Given the description of an element on the screen output the (x, y) to click on. 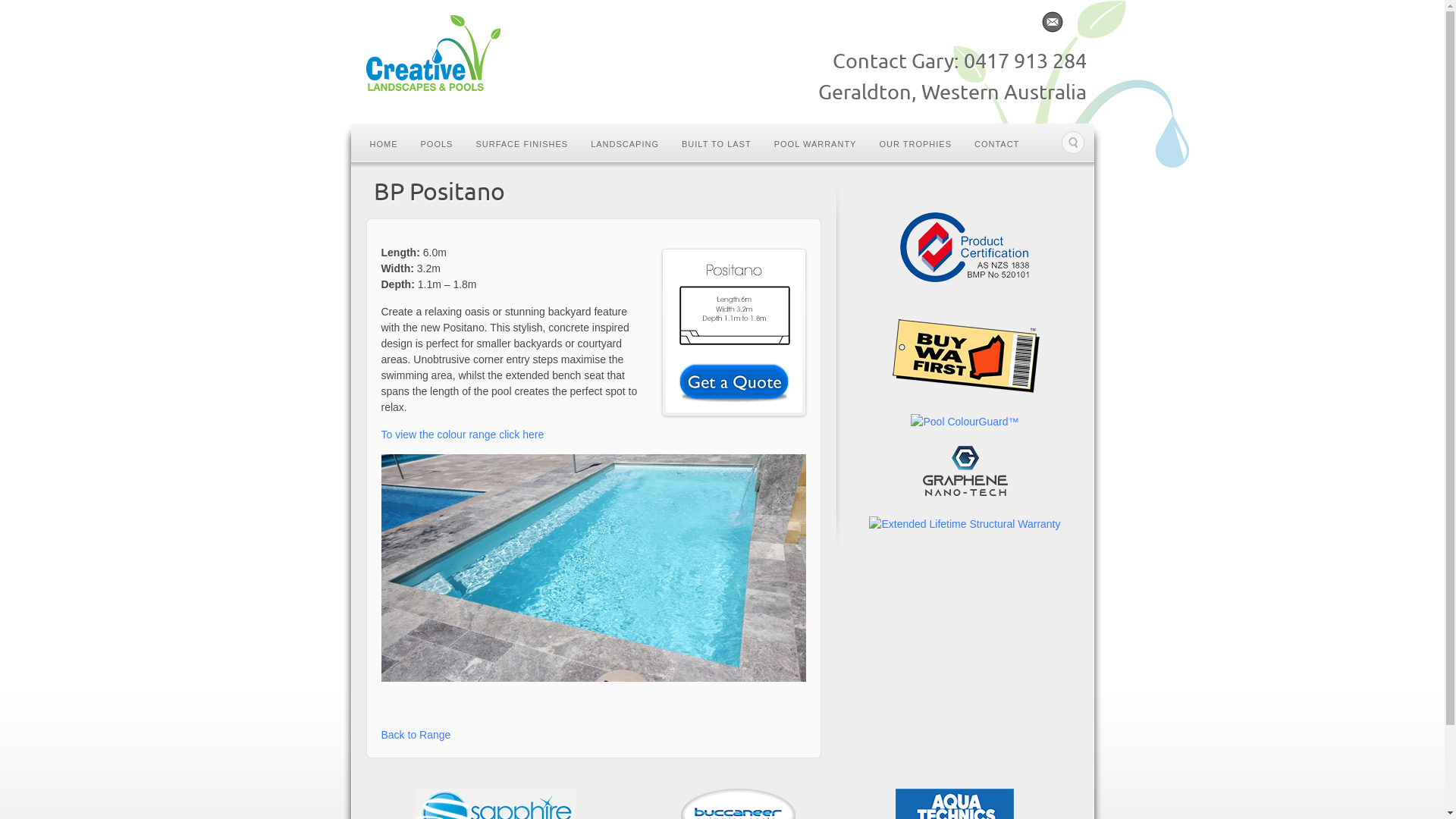
SURFACE FINISHES Element type: text (521, 143)
LANDSCAPING Element type: text (624, 143)
Email Element type: text (1051, 21)
To view the colour range click here Element type: text (461, 434)
BUILT TO LAST Element type: text (716, 143)
HOME Element type: text (382, 143)
OUR TROPHIES Element type: text (915, 143)
Back to Range Element type: text (415, 734)
  Element type: text (964, 301)
Creative Landscapes and Pools Element type: hover (432, 55)
CONTACT Element type: text (996, 143)
POOLS Element type: text (436, 143)
Search Element type: text (1072, 142)
POOL WARRANTY Element type: text (815, 143)
